Given the description of an element on the screen output the (x, y) to click on. 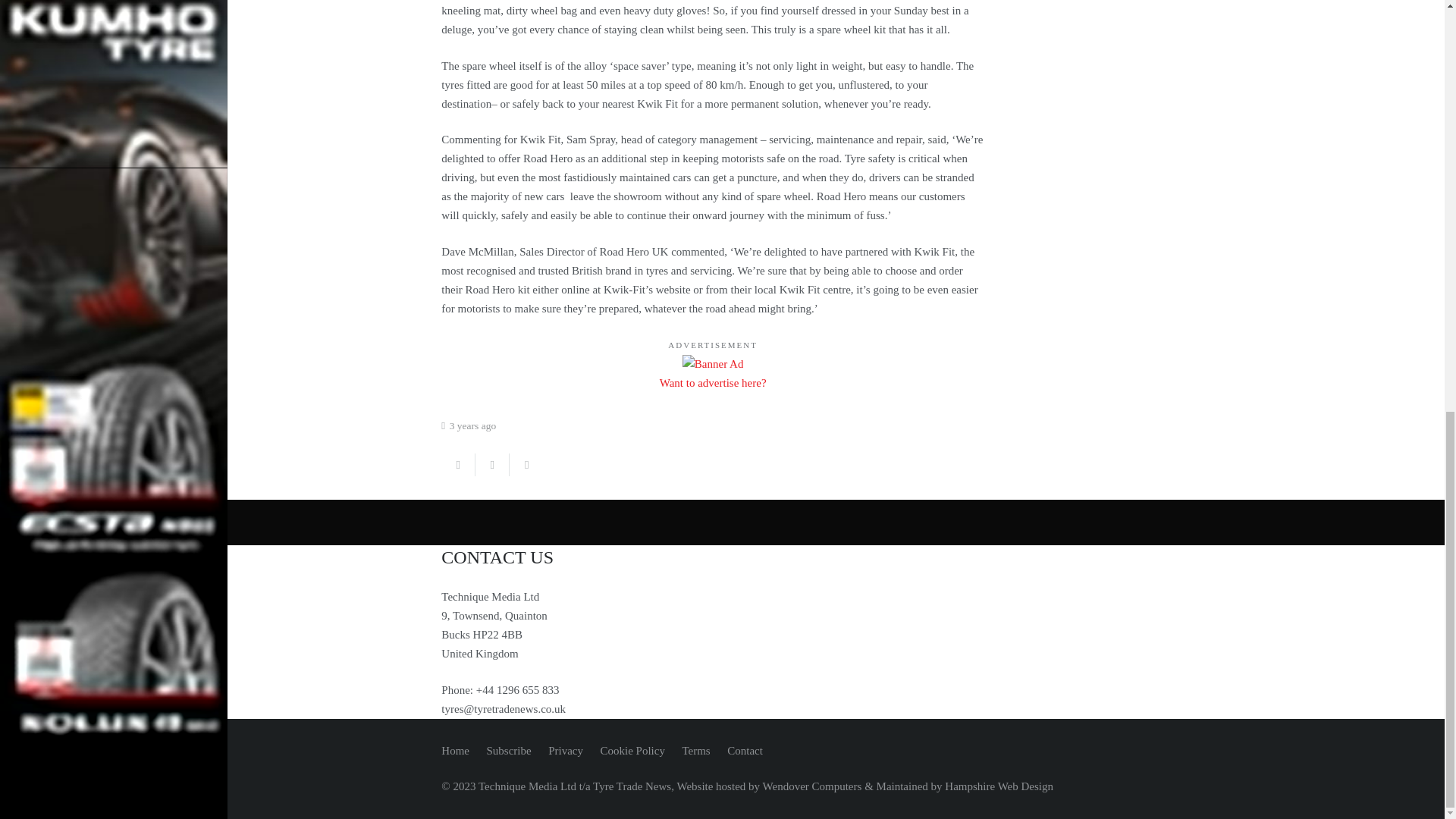
Want to advertise here? (713, 382)
Share this (526, 464)
Contact (744, 750)
Privacy (565, 750)
Cookie Policy (632, 750)
Wendover Computers (811, 786)
Subscribe (508, 750)
Hampshire Web Design (998, 786)
Share this (458, 464)
Home (454, 750)
